Given the description of an element on the screen output the (x, y) to click on. 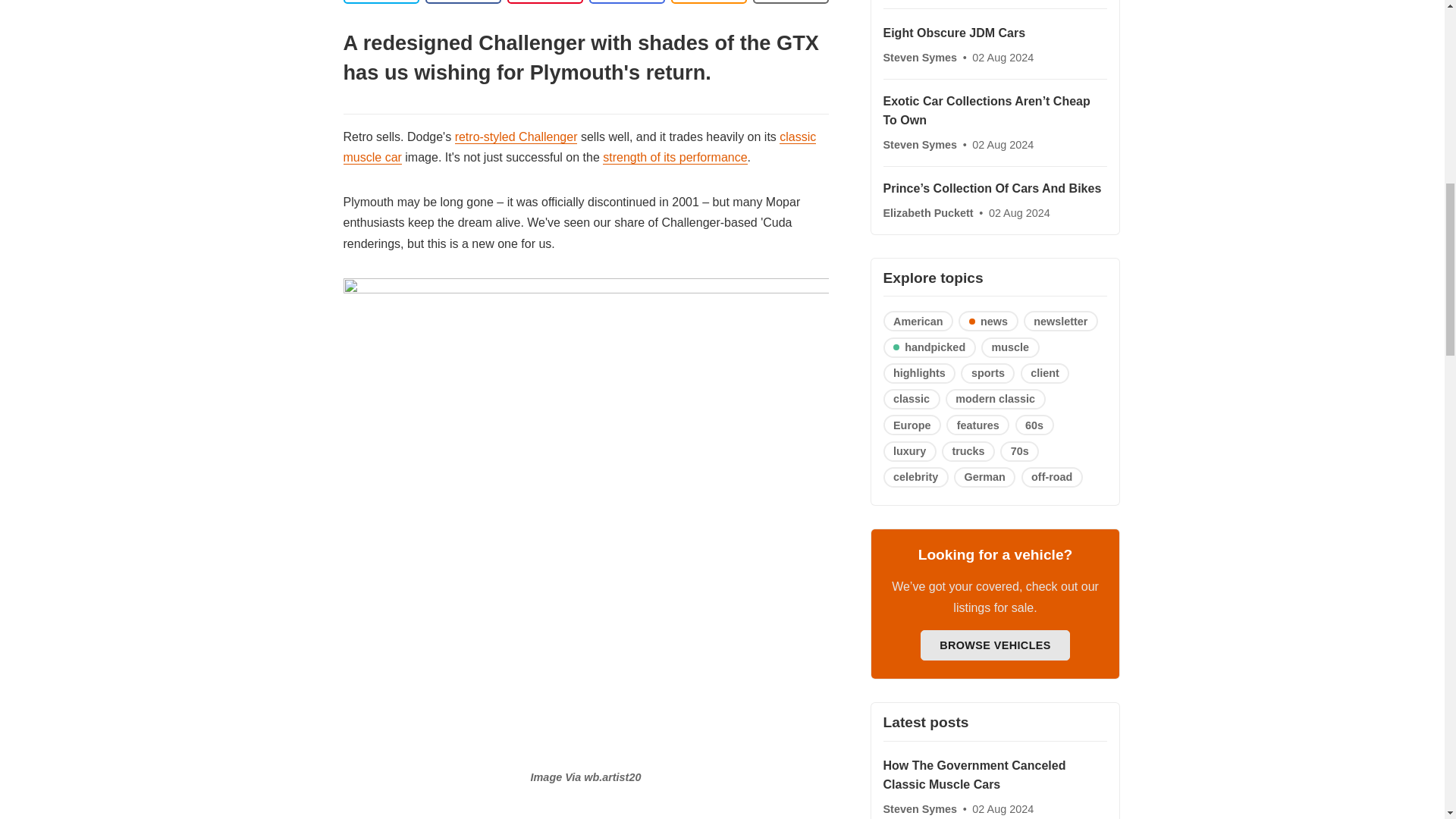
Steven Symes (920, 57)
Steven Symes (920, 144)
strength of its performance (674, 157)
Share on Twitter (380, 1)
classic muscle car (578, 147)
Bookmark (790, 1)
Share on Linkedin (544, 1)
American (917, 321)
retro-styled Challenger (516, 137)
Share on Facebook (462, 1)
Elizabeth Puckett (928, 213)
Copy to clipboard (707, 1)
news (987, 321)
Share by email (625, 1)
